Given the description of an element on the screen output the (x, y) to click on. 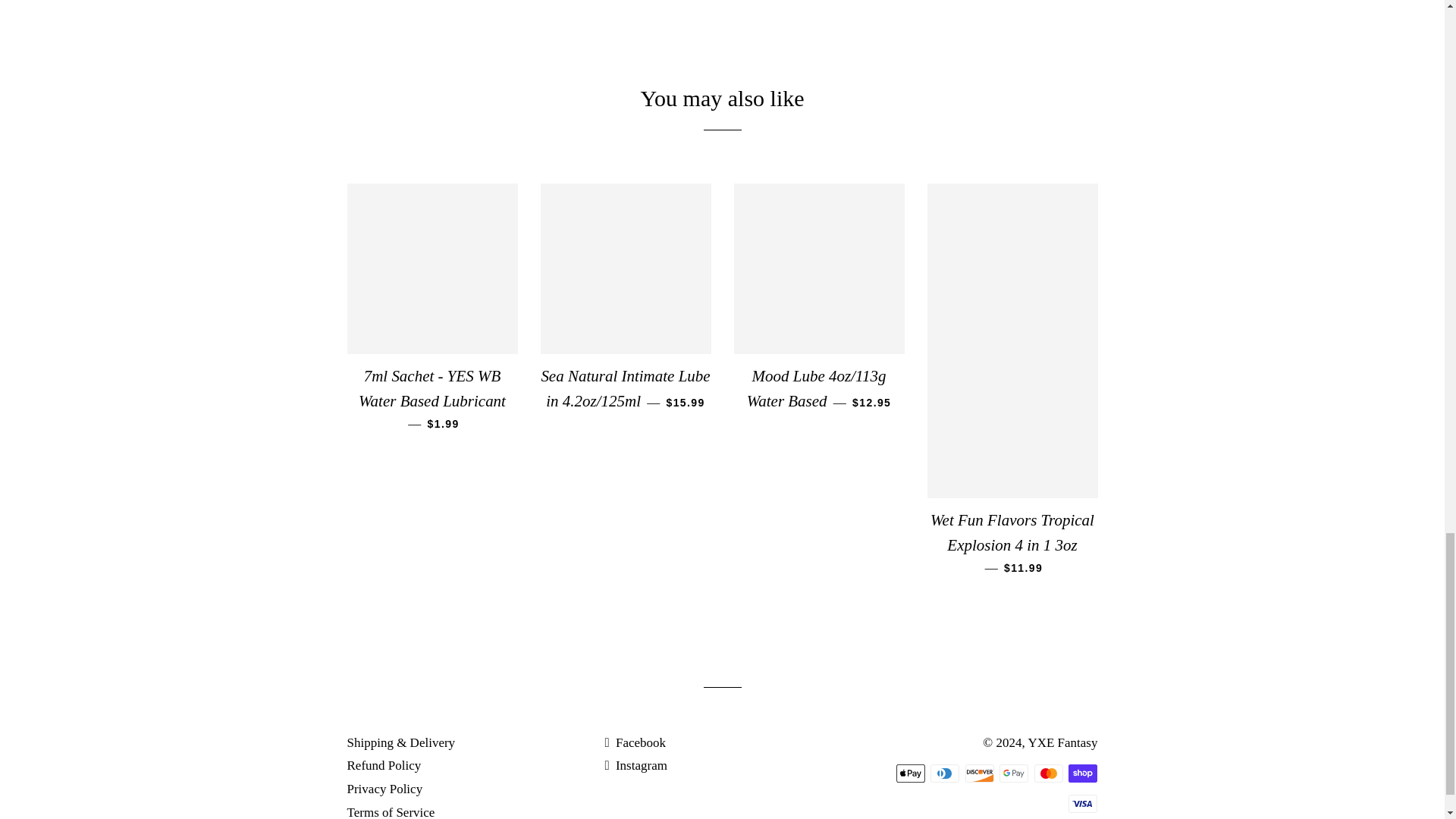
Diners Club (944, 773)
Discover (979, 773)
Visa (1082, 803)
Shop Pay (1082, 773)
Apple Pay (910, 773)
Google Pay (1012, 773)
Mastercard (1047, 773)
YXE Fantasy on Facebook (634, 742)
YXE Fantasy on Instagram (635, 765)
